Given the description of an element on the screen output the (x, y) to click on. 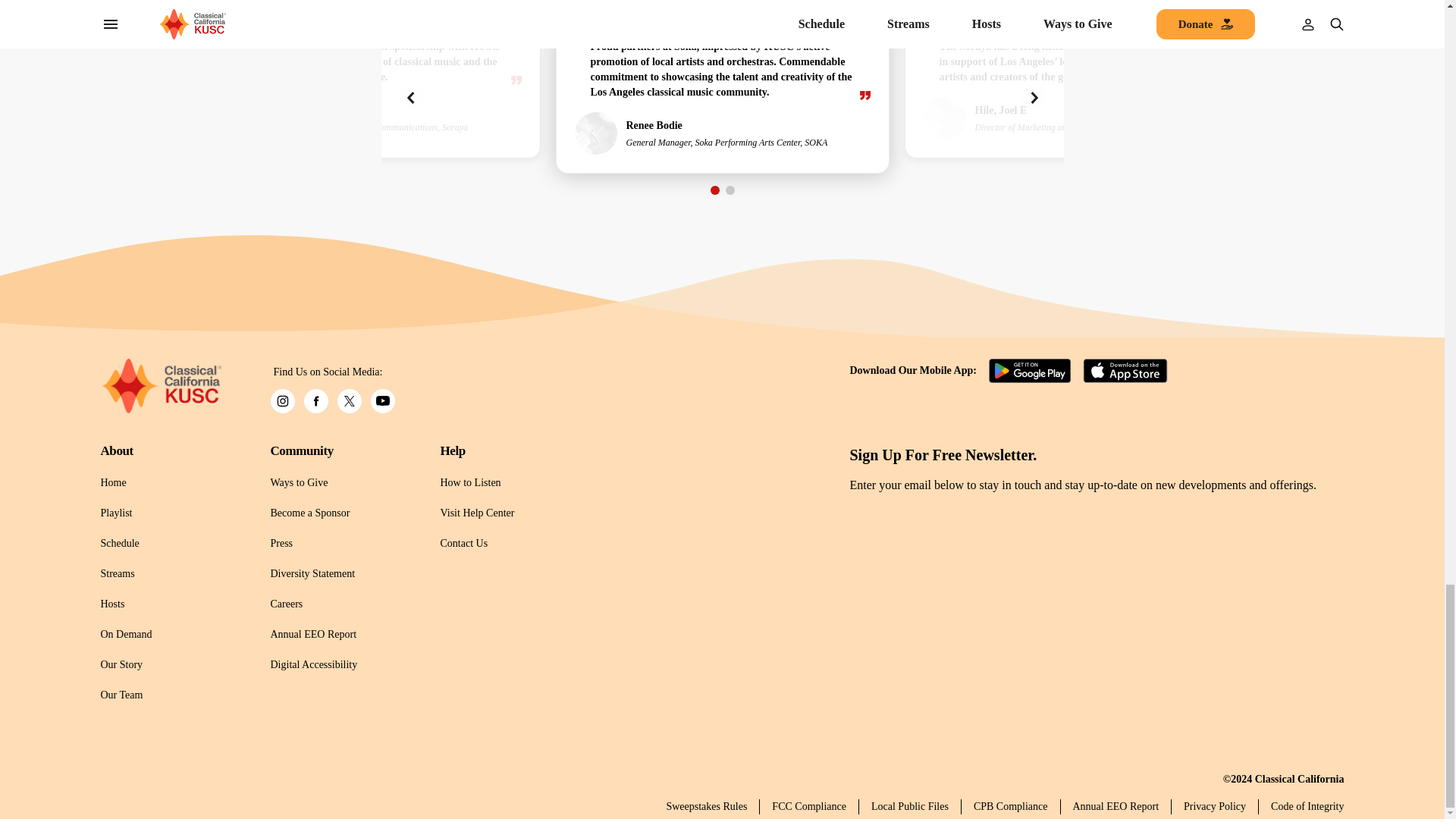
INSTAGRAM (281, 401)
DOWNLOAD IN GOOGLE PLAY (1031, 370)
HOME (160, 385)
YOUTUBE (381, 401)
DOWNLOAD IN APP STORE (1125, 370)
TWITTER (348, 401)
PREV (410, 97)
NEXT (1032, 97)
FACEBOOK (314, 401)
